Given the description of an element on the screen output the (x, y) to click on. 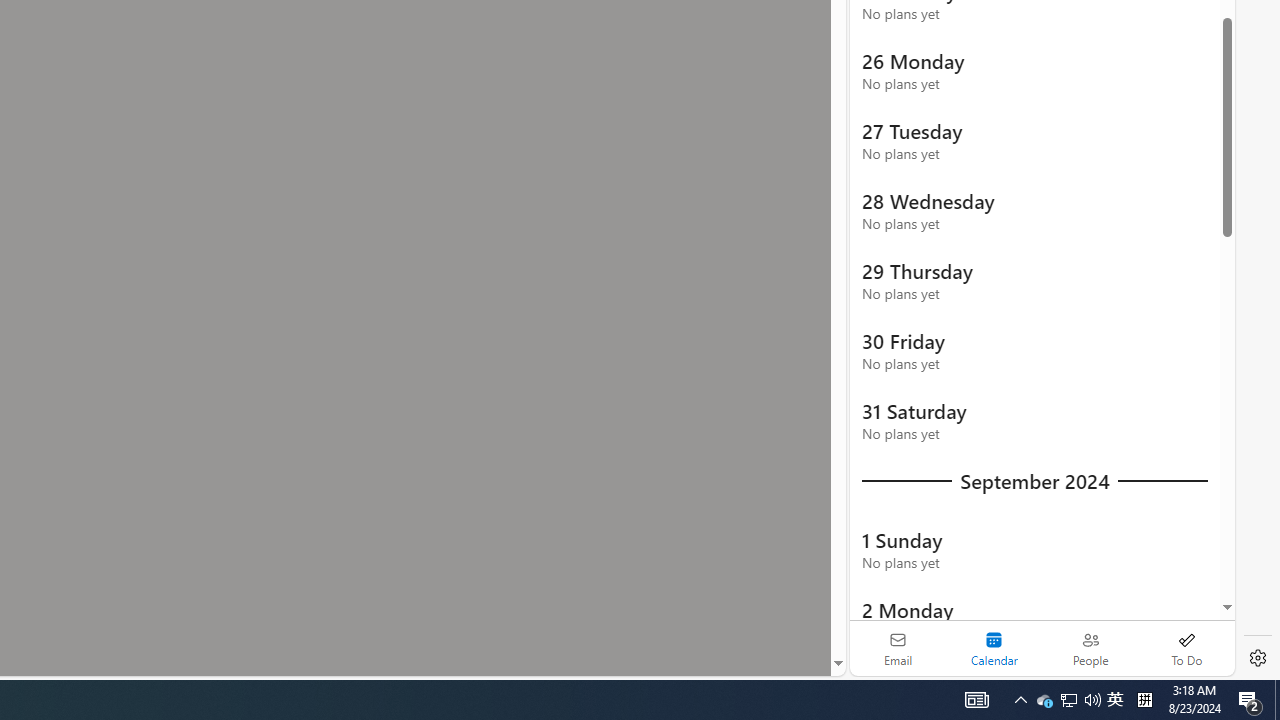
Email (898, 648)
To Do (1186, 648)
Selected calendar module. Date today is 22 (994, 648)
People (1090, 648)
